Given the description of an element on the screen output the (x, y) to click on. 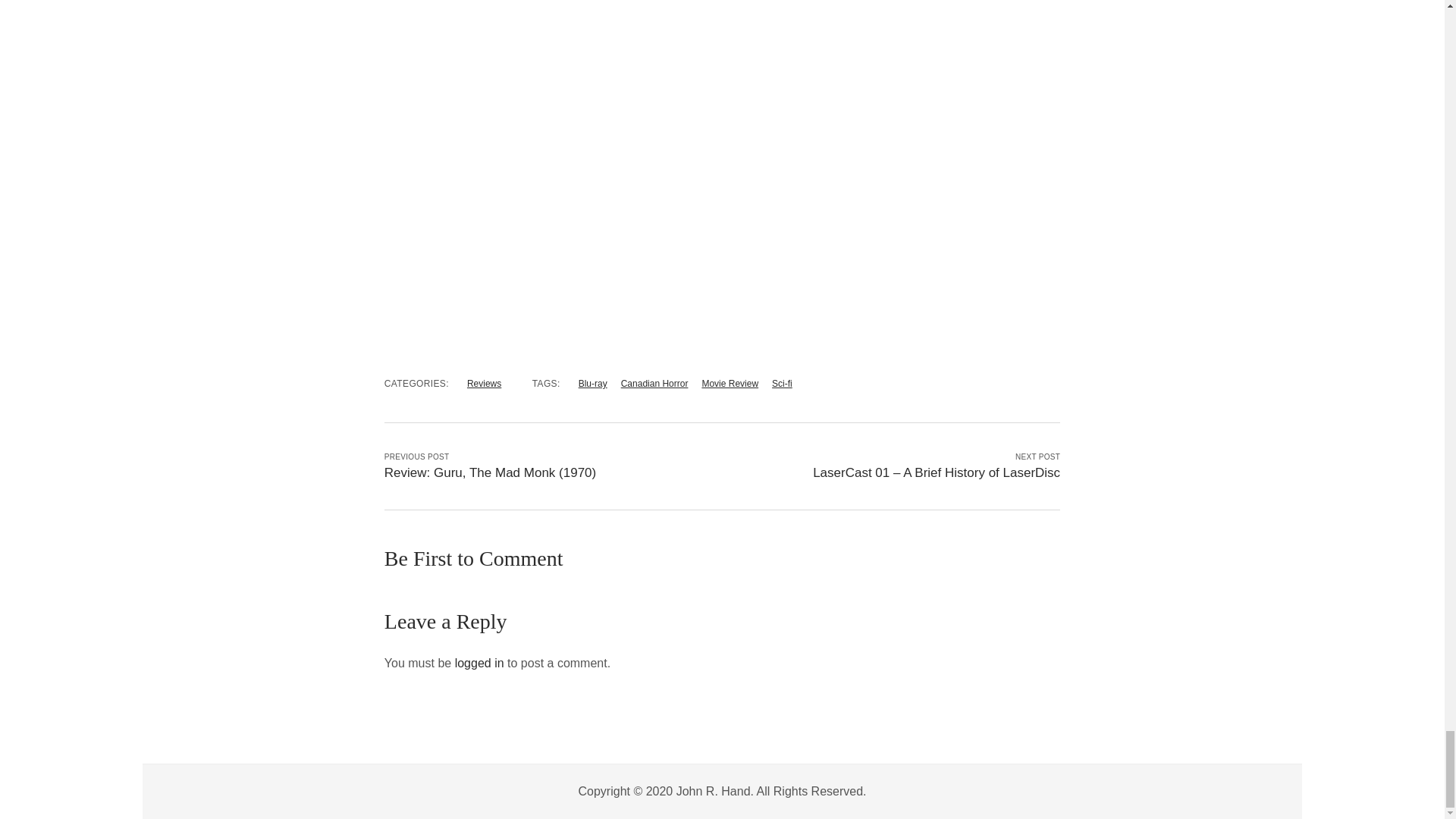
View all posts tagged Blu-ray (592, 383)
Canadian Horror (654, 383)
Movie Review (729, 383)
View all posts tagged Canadian Horror (654, 383)
View all posts in Reviews (483, 383)
Sci-fi (781, 383)
logged in (478, 662)
View all posts tagged Sci-fi (781, 383)
Blu-ray (592, 383)
View all posts tagged Movie Review (729, 383)
